Given the description of an element on the screen output the (x, y) to click on. 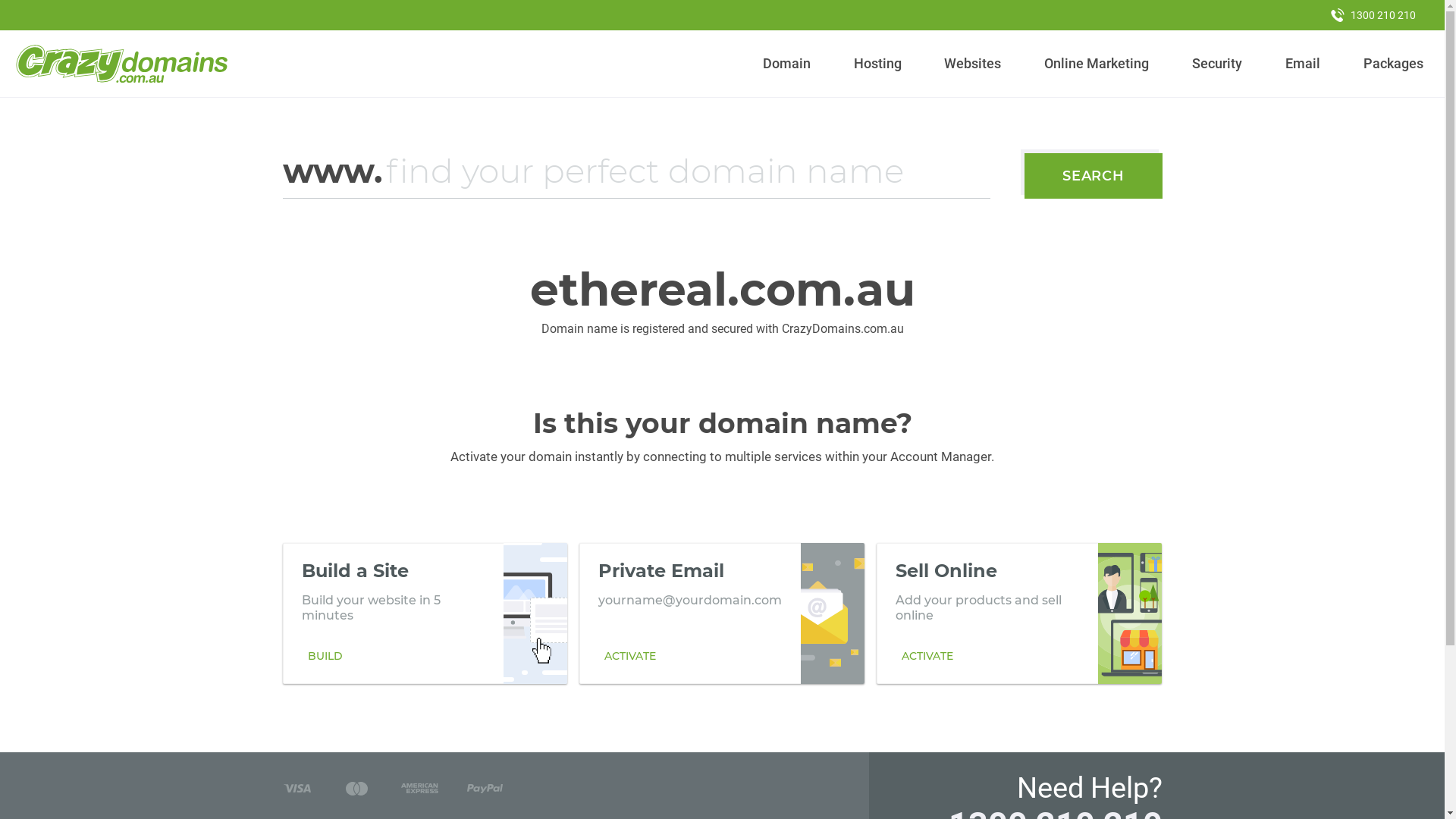
1300 210 210 Element type: text (1373, 15)
Security Element type: text (1217, 63)
Hosting Element type: text (877, 63)
Domain Element type: text (786, 63)
Packages Element type: text (1392, 63)
Sell Online
Add your products and sell online
ACTIVATE Element type: text (1018, 613)
Websites Element type: text (972, 63)
Build a Site
Build your website in 5 minutes
BUILD Element type: text (424, 613)
Private Email
yourname@yourdomain.com
ACTIVATE Element type: text (721, 613)
SEARCH Element type: text (1092, 175)
Email Element type: text (1302, 63)
Online Marketing Element type: text (1096, 63)
